Given the description of an element on the screen output the (x, y) to click on. 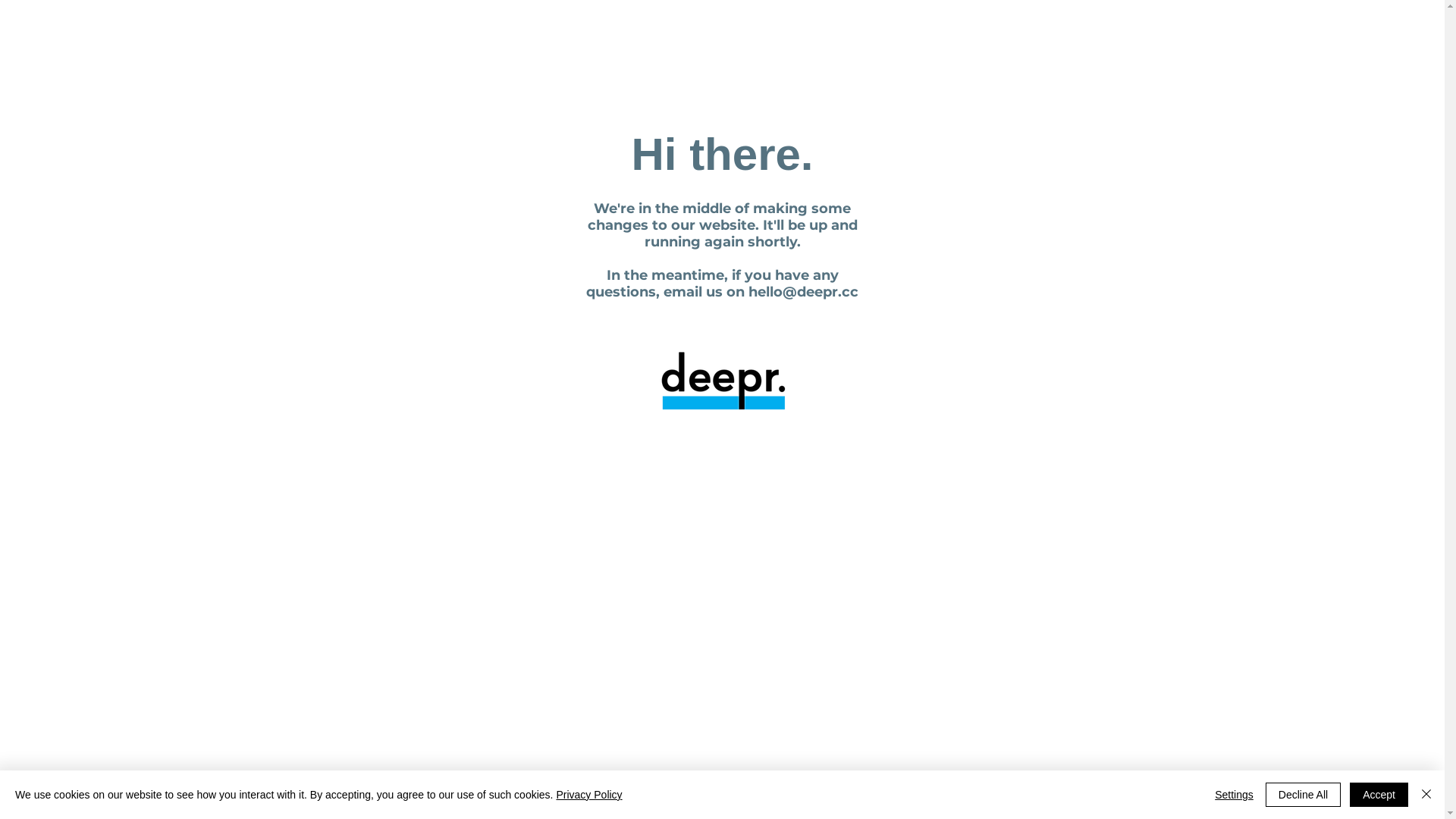
Accept Element type: text (1378, 794)
Decline All Element type: text (1302, 794)
Privacy Policy Element type: text (588, 794)
hello@deepr.cc Element type: text (803, 291)
